Given the description of an element on the screen output the (x, y) to click on. 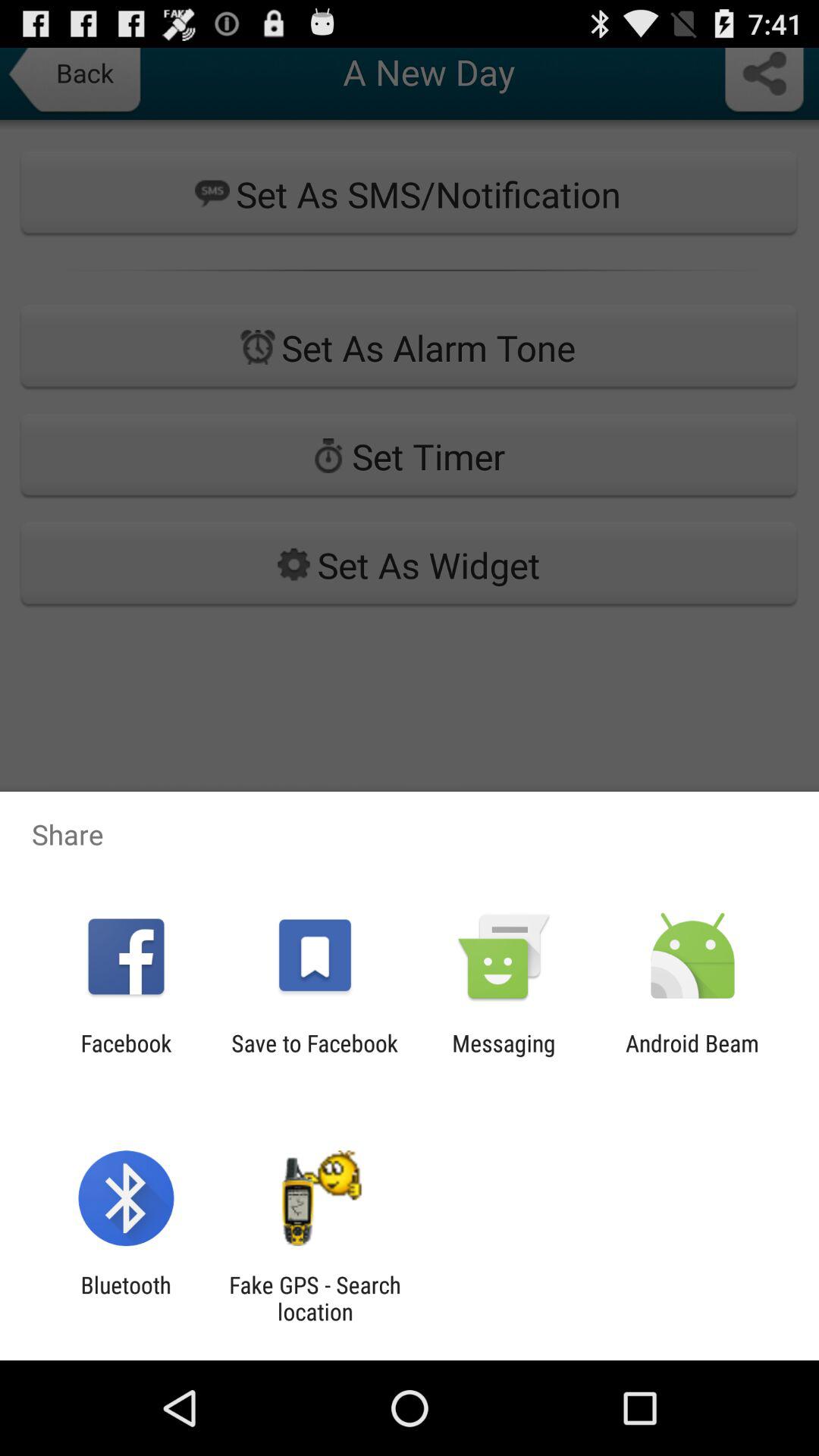
press the app to the left of fake gps search app (125, 1298)
